Given the description of an element on the screen output the (x, y) to click on. 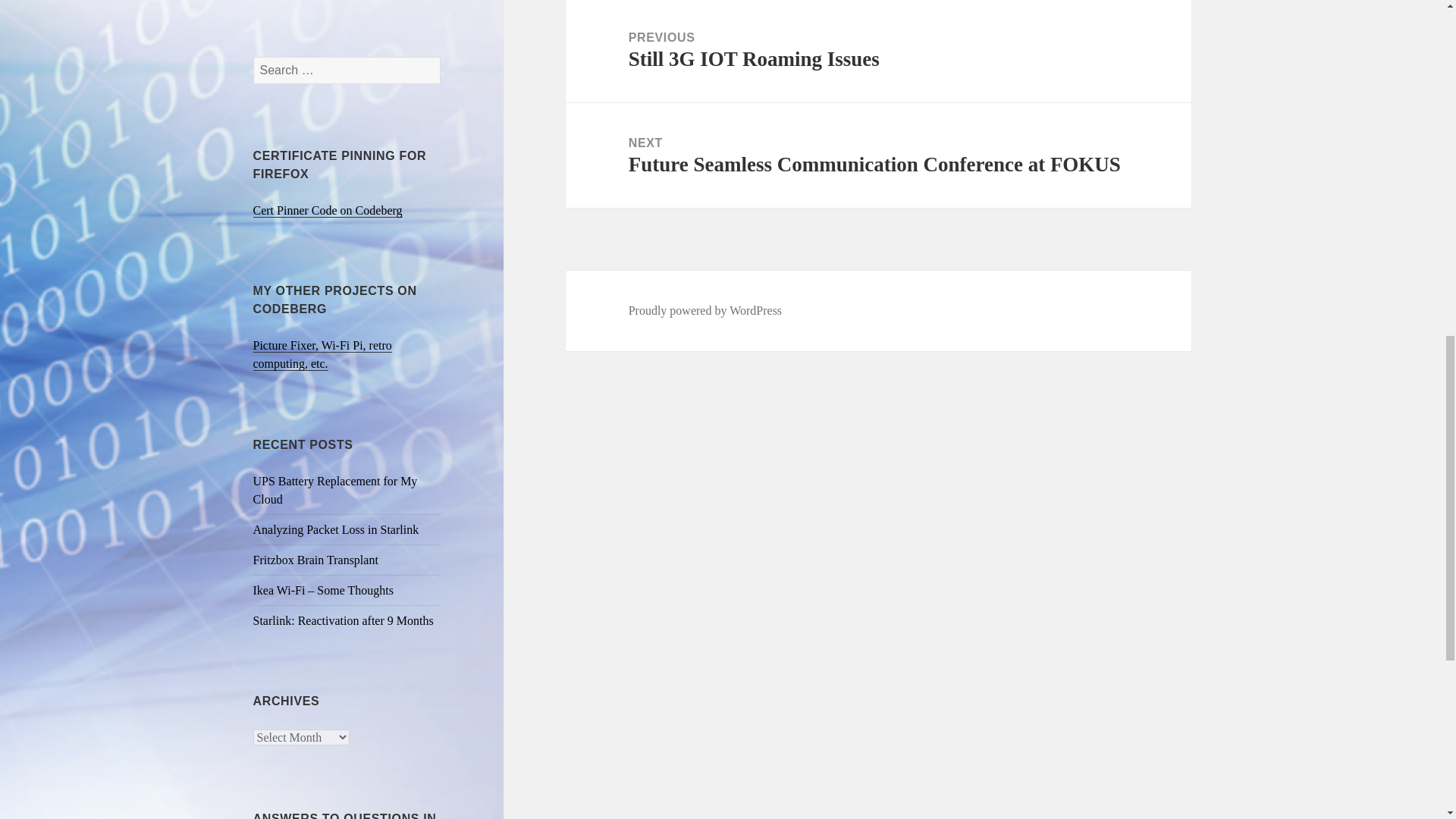
Proudly powered by WordPress (704, 310)
Cert Pinner Code on Codeberg (328, 210)
Picture Fixer, Wi-Fi Pi, retro computing, etc. (322, 355)
Analyzing Packet Loss in Starlink (878, 51)
Starlink: Reactivation after 9 Months (336, 529)
Search (343, 620)
Fritzbox Brain Transplant (335, 490)
